Given the description of an element on the screen output the (x, y) to click on. 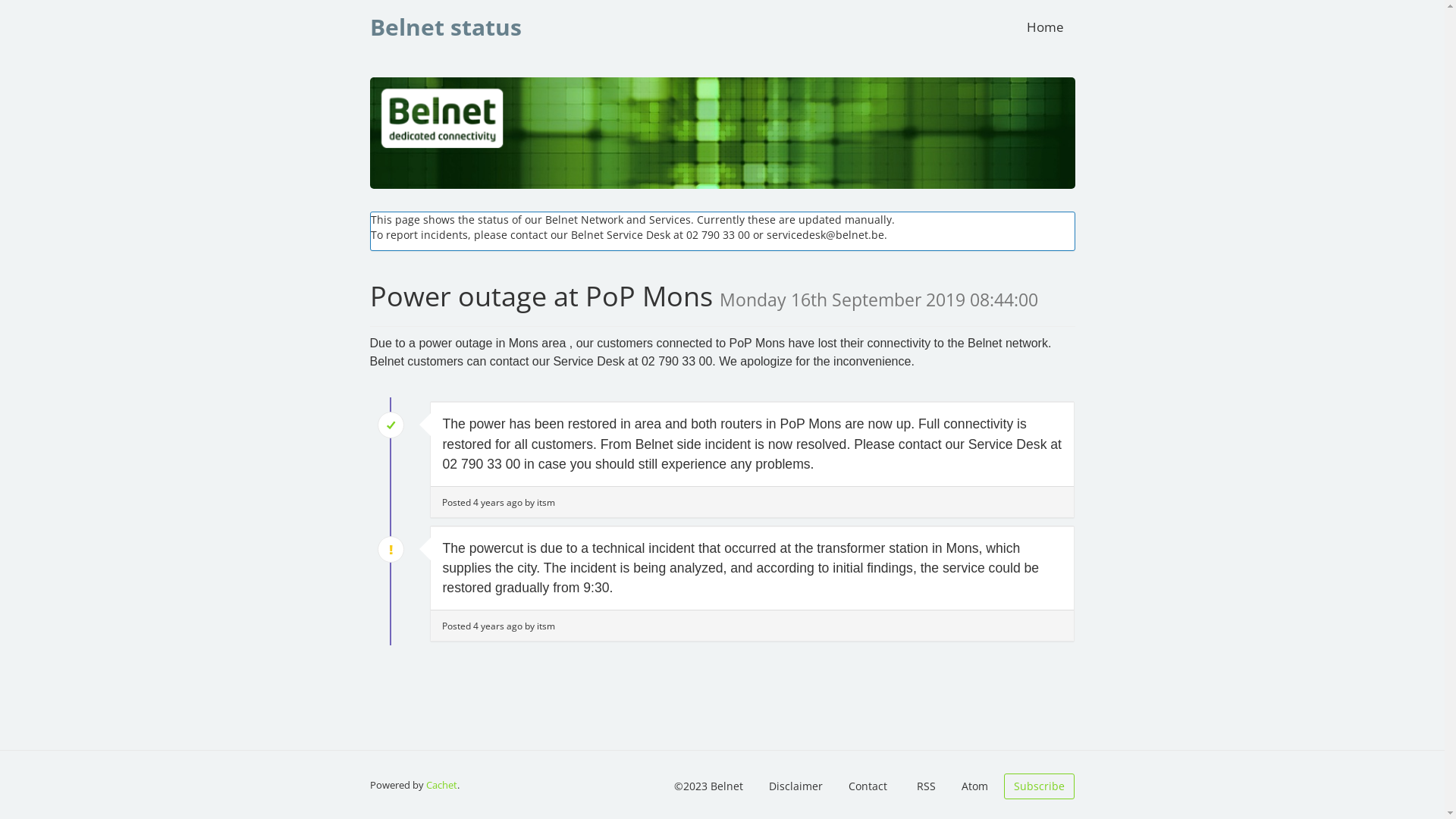
Belnet status Element type: text (444, 27)
Atom Element type: text (974, 786)
Home Element type: text (1044, 27)
Disclaimer Element type: text (795, 786)
Contact Element type: text (867, 786)
Subscribe Element type: text (1039, 786)
RSS Element type: text (925, 786)
Cachet Element type: text (441, 784)
